Given the description of an element on the screen output the (x, y) to click on. 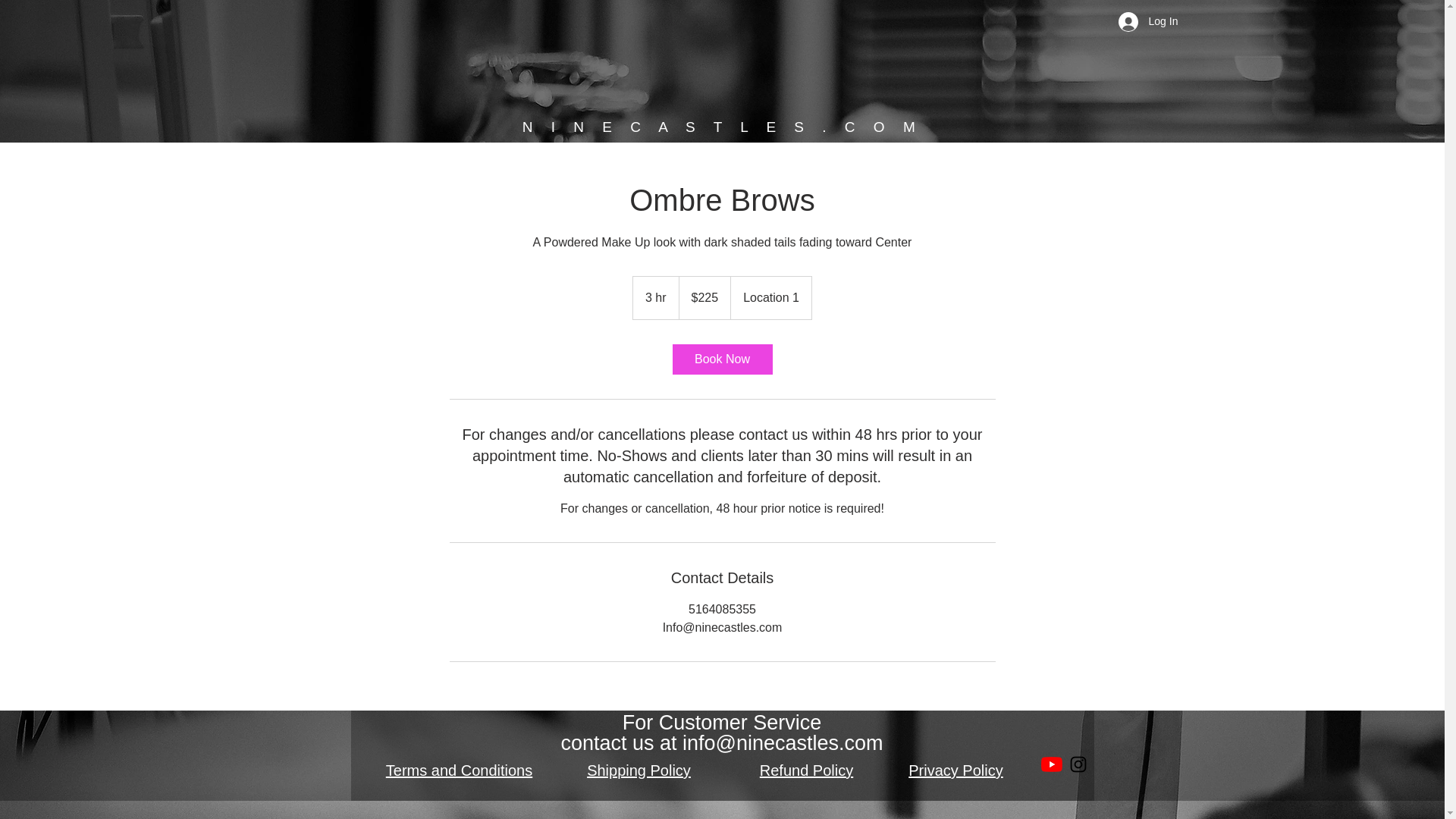
Terms and Conditions (458, 770)
Log In (1141, 21)
Shipping Policy (638, 770)
Privacy Policy (955, 770)
Refund Policy (806, 770)
Book Now (721, 358)
